Given the description of an element on the screen output the (x, y) to click on. 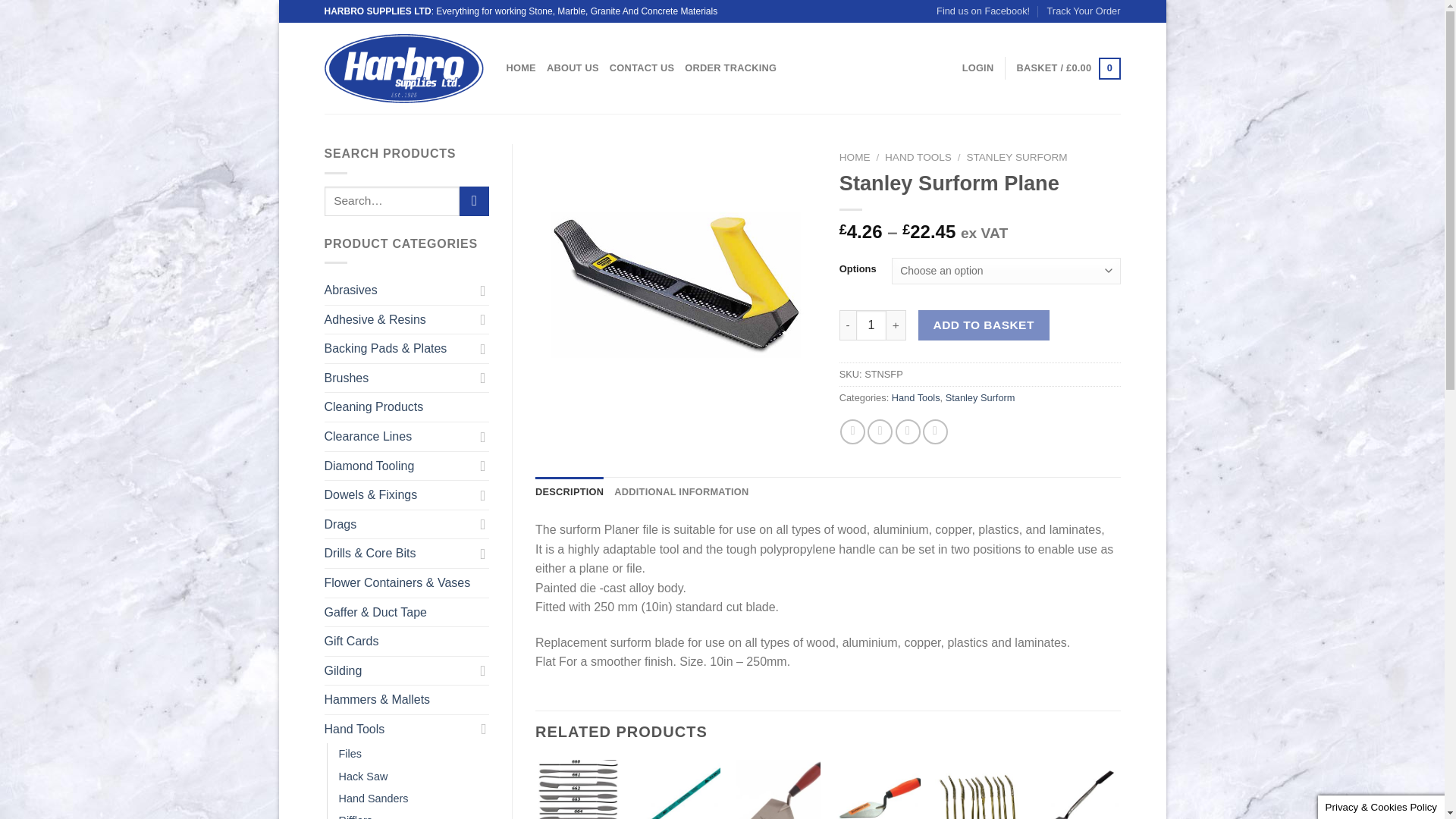
Abrasives (399, 290)
Search (474, 201)
ABOUT US (572, 68)
ORDER TRACKING (730, 68)
HOME (520, 68)
Share on Facebook (852, 431)
CONTACT US (642, 68)
1 (871, 325)
